Given the description of an element on the screen output the (x, y) to click on. 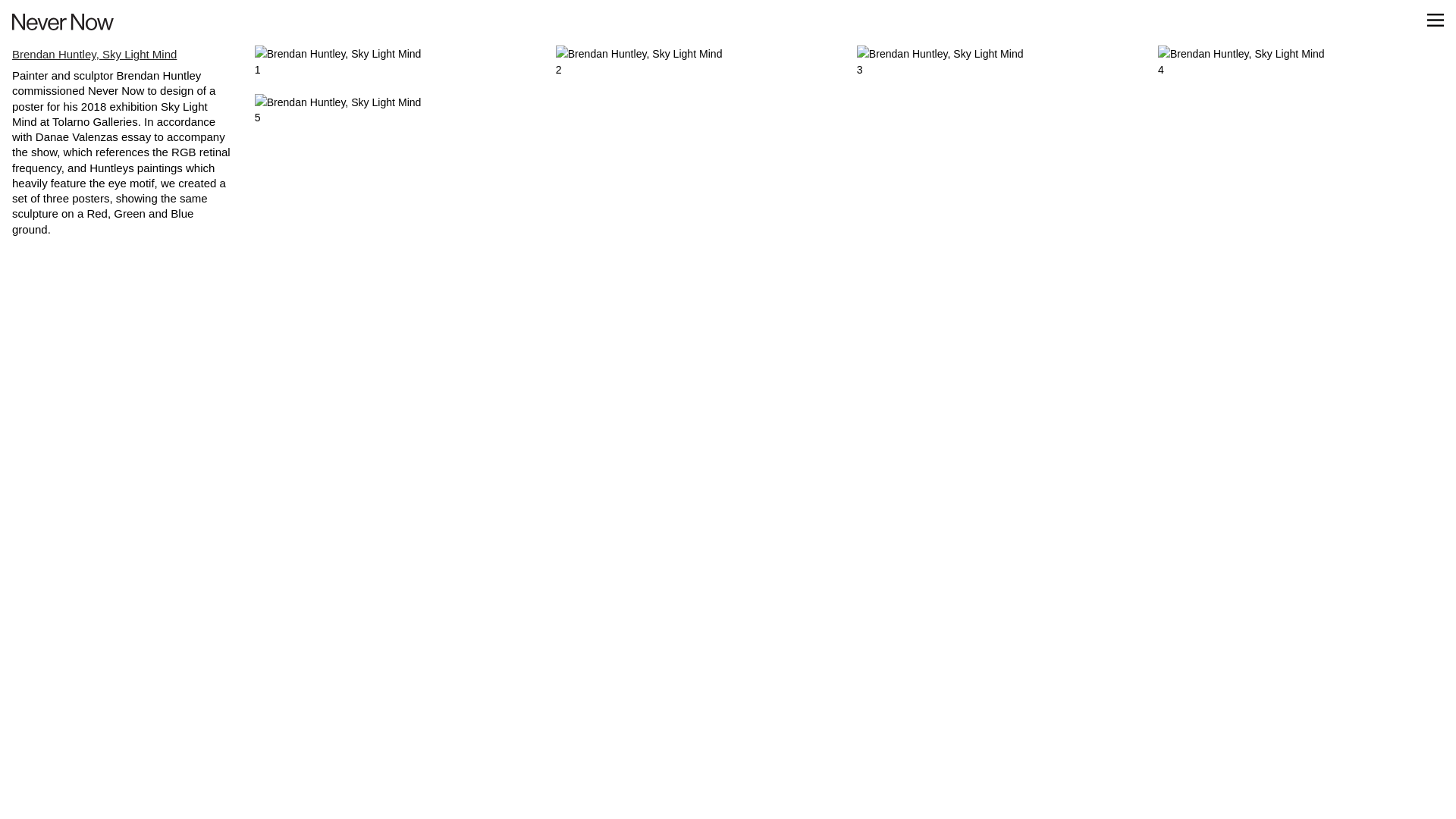
  Element type: text (1435, 20)
